Given the description of an element on the screen output the (x, y) to click on. 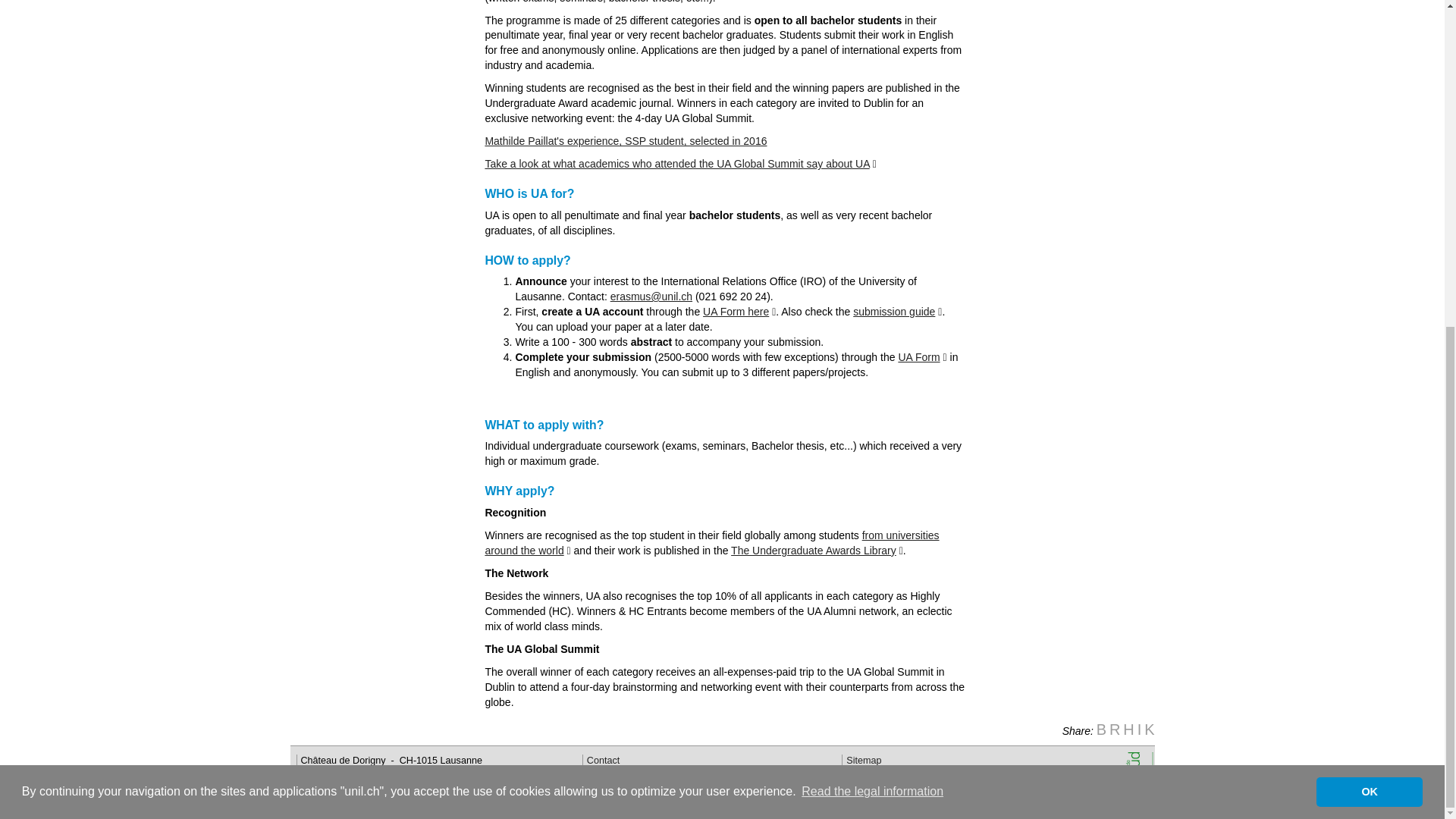
Read the legal information (871, 252)
OK (1369, 253)
